Given the description of an element on the screen output the (x, y) to click on. 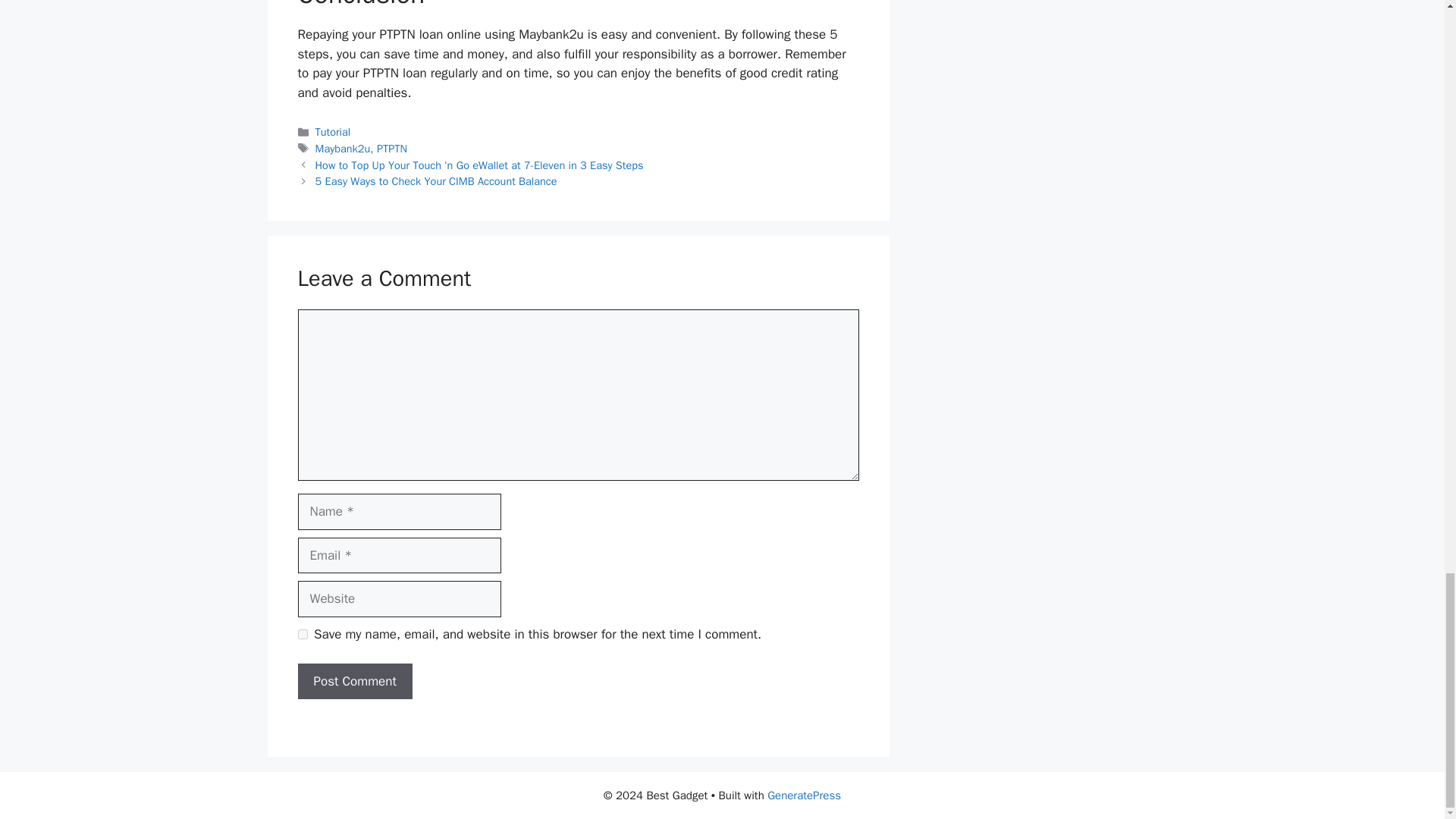
5 Easy Ways to Check Your CIMB Account Balance (436, 181)
Post Comment (354, 681)
PTPTN (392, 148)
Tutorial (332, 131)
Post Comment (354, 681)
GeneratePress (804, 795)
Maybank2u (343, 148)
yes (302, 634)
